Given the description of an element on the screen output the (x, y) to click on. 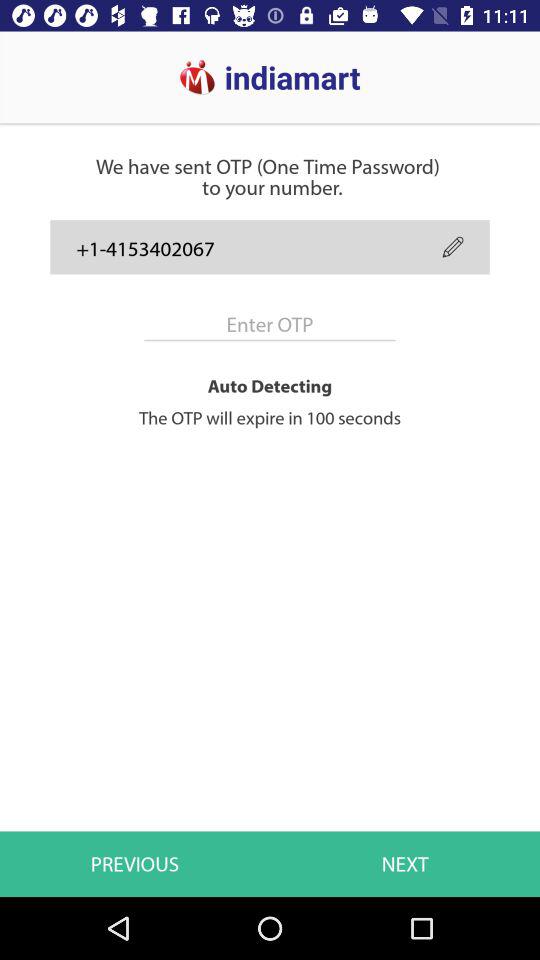
click the icon below the the otp will item (405, 863)
